Given the description of an element on the screen output the (x, y) to click on. 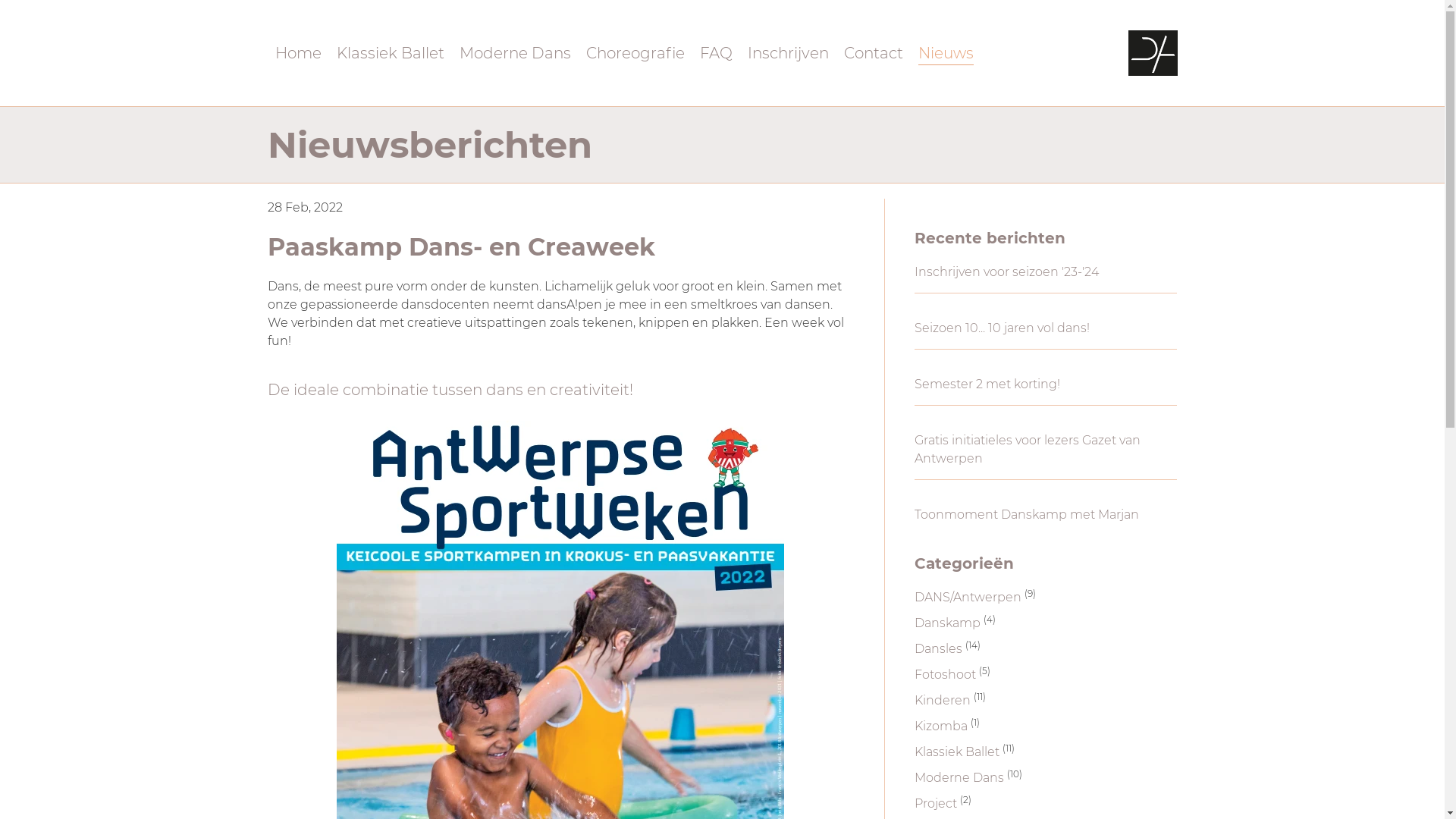
Gratis initiatieles voor lezers Gazet van Antwerpen Element type: text (1027, 449)
Home Element type: text (297, 52)
Project Element type: text (935, 803)
Kinderen Element type: text (942, 700)
Inschrijven voor seizoen '23-'24 Element type: text (1006, 271)
Kizomba Element type: text (940, 725)
DANS/Antwerpen Element type: text (967, 596)
FAQ Element type: text (715, 52)
Klassiek Ballet Element type: text (390, 52)
Inschrijven Element type: text (788, 52)
Dansles Element type: text (938, 648)
Klassiek Ballet Element type: text (956, 751)
Seizoen 10... 10 jaren vol dans! Element type: text (1001, 327)
Moderne Dans Element type: text (959, 777)
Nieuws Element type: text (945, 52)
Choreografie Element type: text (634, 52)
Moderne Dans Element type: text (514, 52)
Danskamp Element type: text (947, 622)
Fotoshoot Element type: text (944, 674)
Toonmoment Danskamp met Marjan Element type: text (1026, 514)
DANS/Antwerpen Element type: hover (1152, 52)
Semester 2 met korting! Element type: text (987, 383)
Contact Element type: text (872, 52)
